Given the description of an element on the screen output the (x, y) to click on. 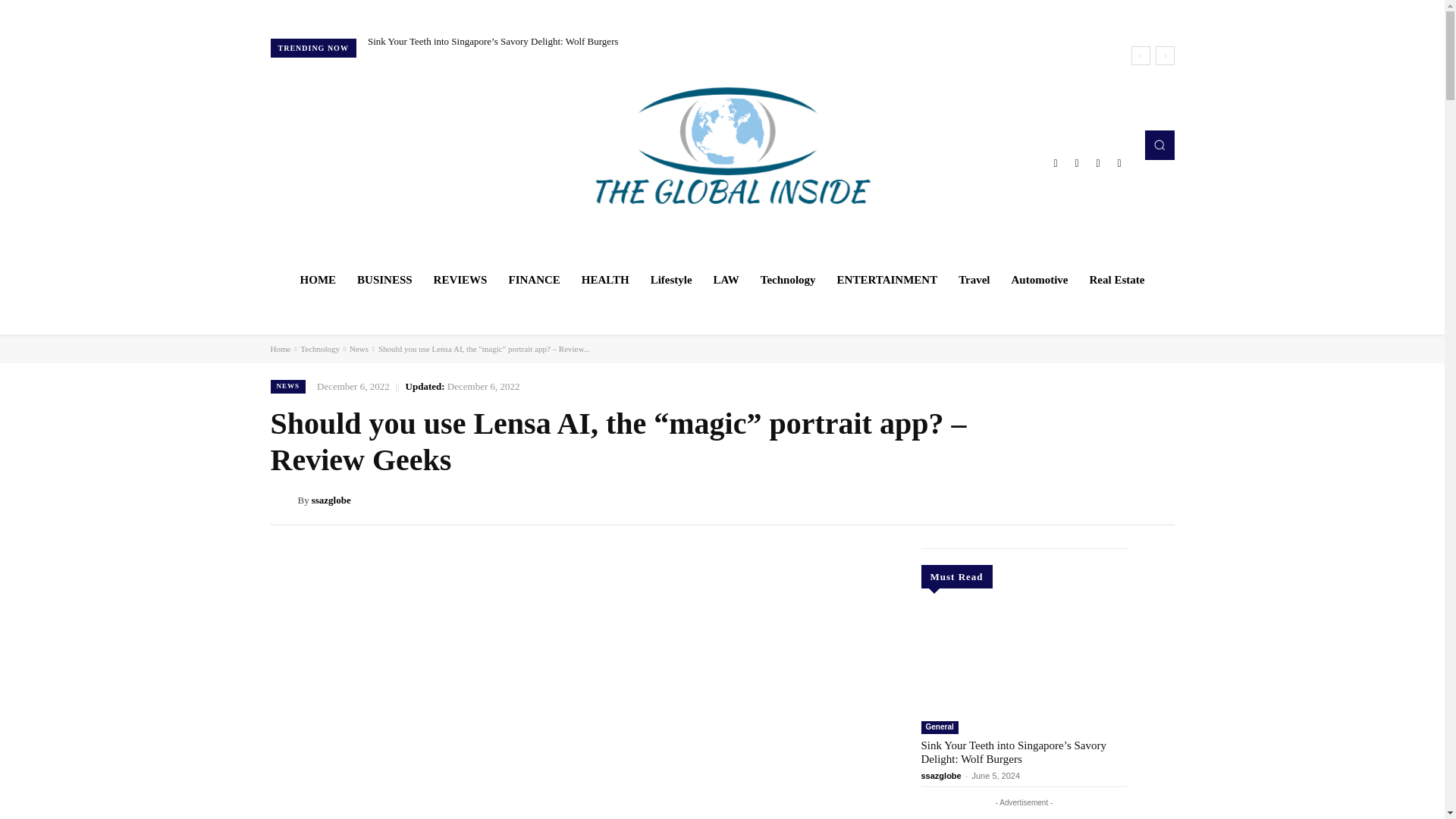
BUSINESS (384, 279)
FINANCE (533, 279)
Technology (788, 279)
Lifestyle (671, 279)
Twitter (1097, 162)
HOME (318, 279)
HEALTH (605, 279)
Instagram (1076, 162)
Facebook (1055, 162)
REVIEWS (460, 279)
